Given the description of an element on the screen output the (x, y) to click on. 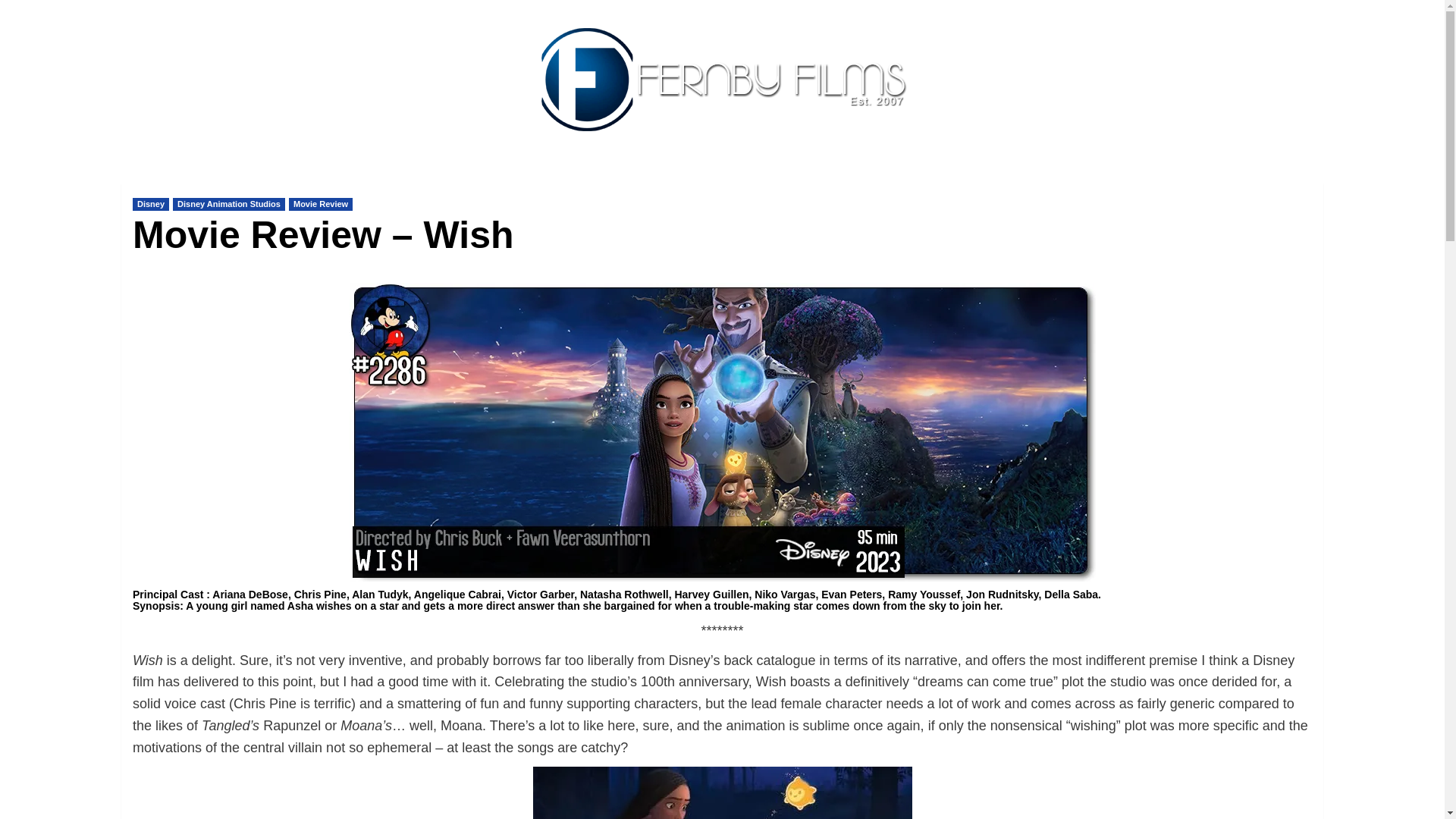
Movie Review (320, 204)
Disney (150, 204)
Disney Animation Studios (229, 204)
Search (1278, 226)
